Given the description of an element on the screen output the (x, y) to click on. 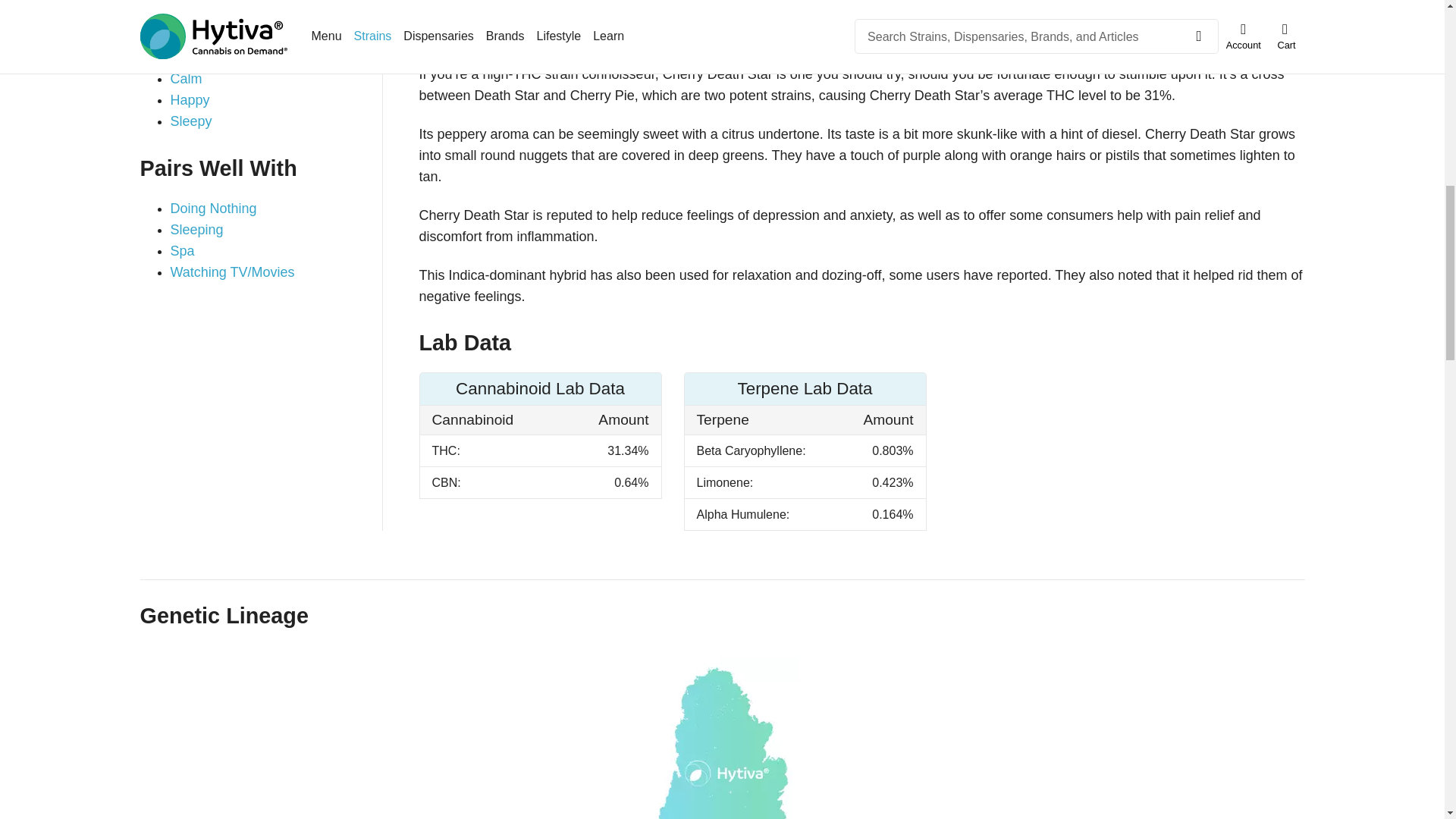
Sleepy (190, 120)
Calm (186, 78)
Spa (181, 250)
Sleeping (196, 229)
Doing Nothing (213, 208)
Happy (189, 99)
Cherry Death Star - Hybrid Cannabis Strain by Hytiva (721, 738)
